Given the description of an element on the screen output the (x, y) to click on. 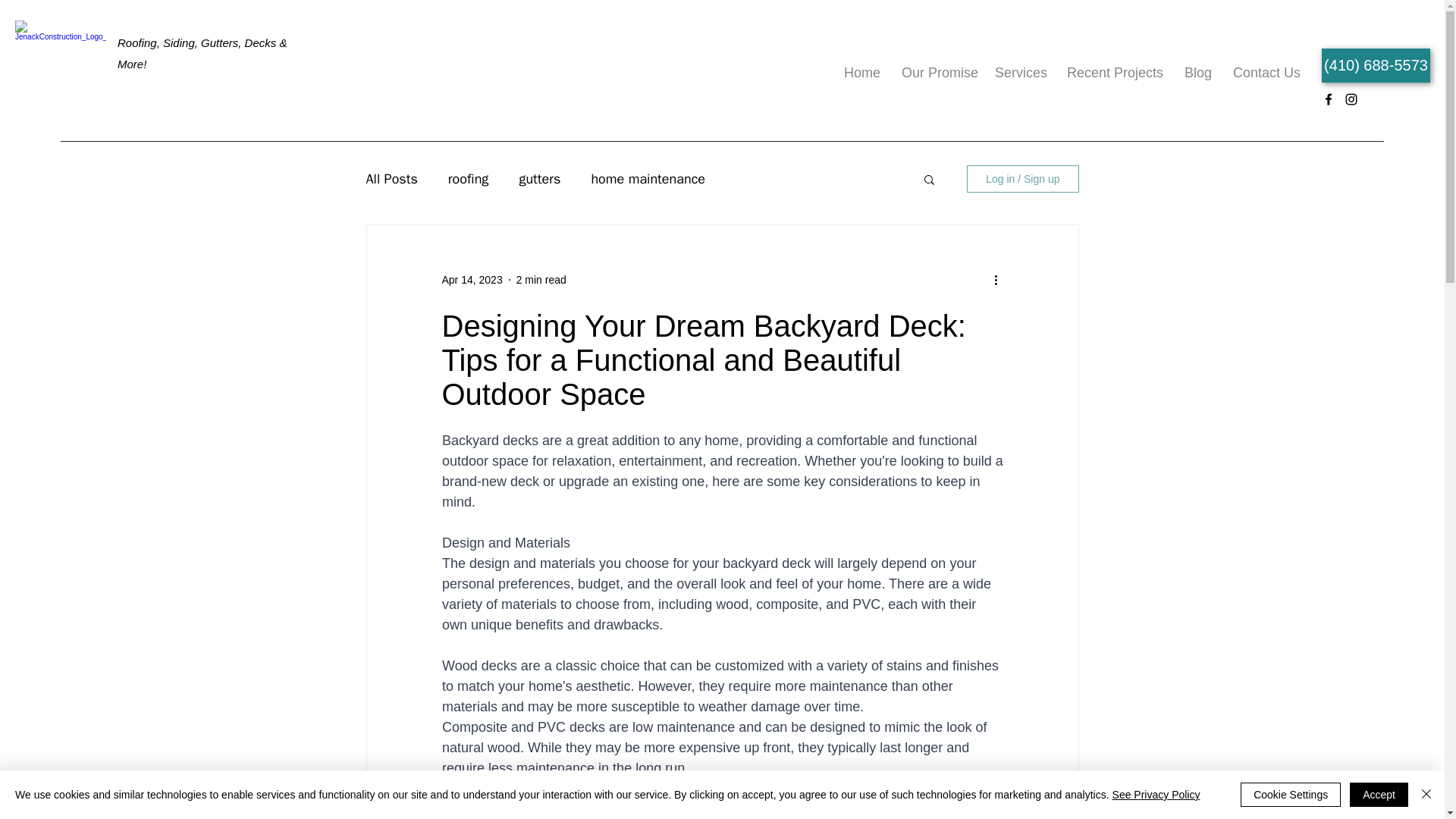
Services (1019, 65)
2 min read (541, 278)
Our Promise (937, 65)
home maintenance (647, 178)
gutters (539, 178)
Home (861, 65)
Contact Us (1266, 65)
All Posts (390, 178)
Blog (1197, 65)
roofing (468, 178)
